Given the description of an element on the screen output the (x, y) to click on. 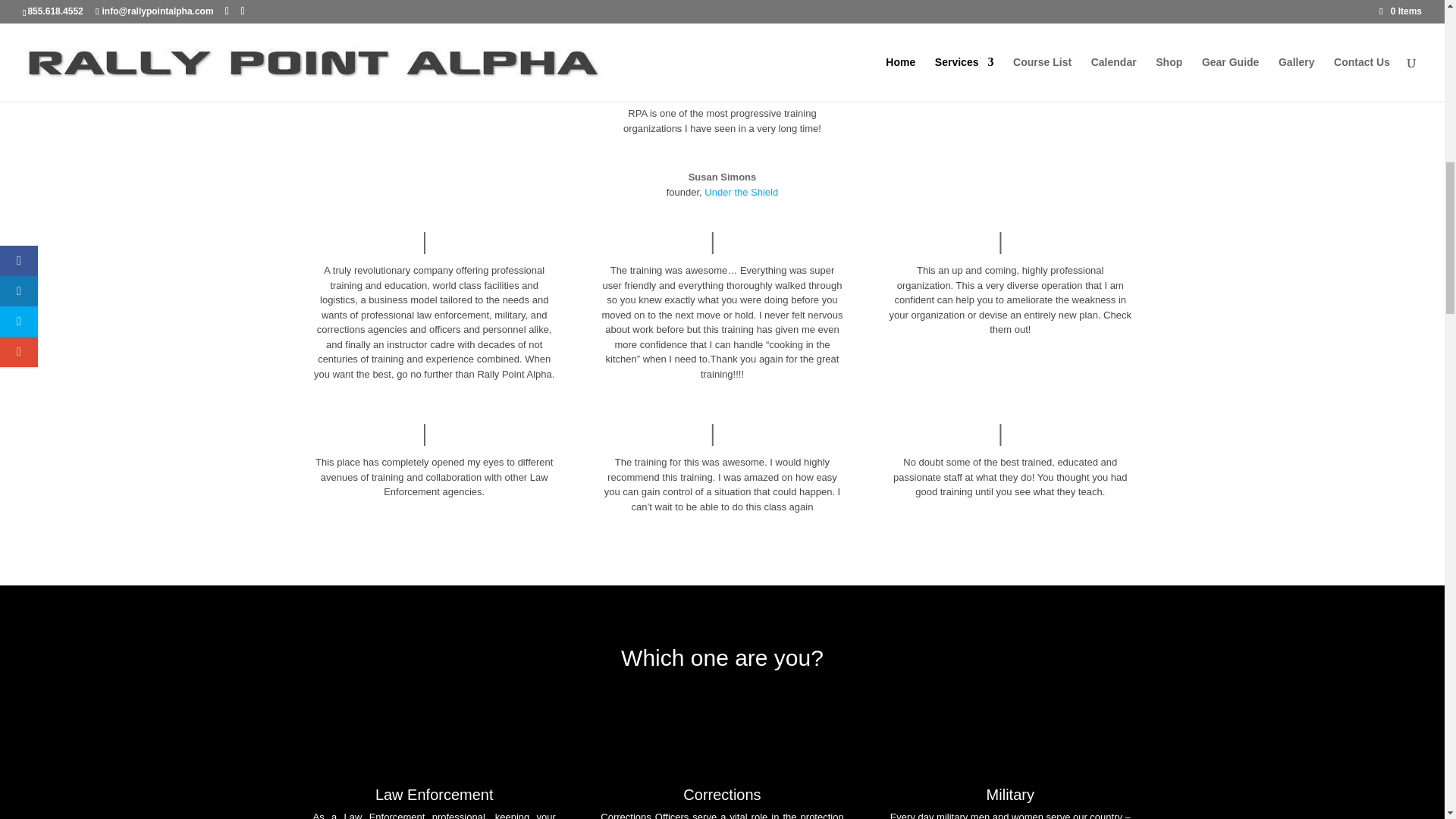
Under the Shield (740, 192)
